Given the description of an element on the screen output the (x, y) to click on. 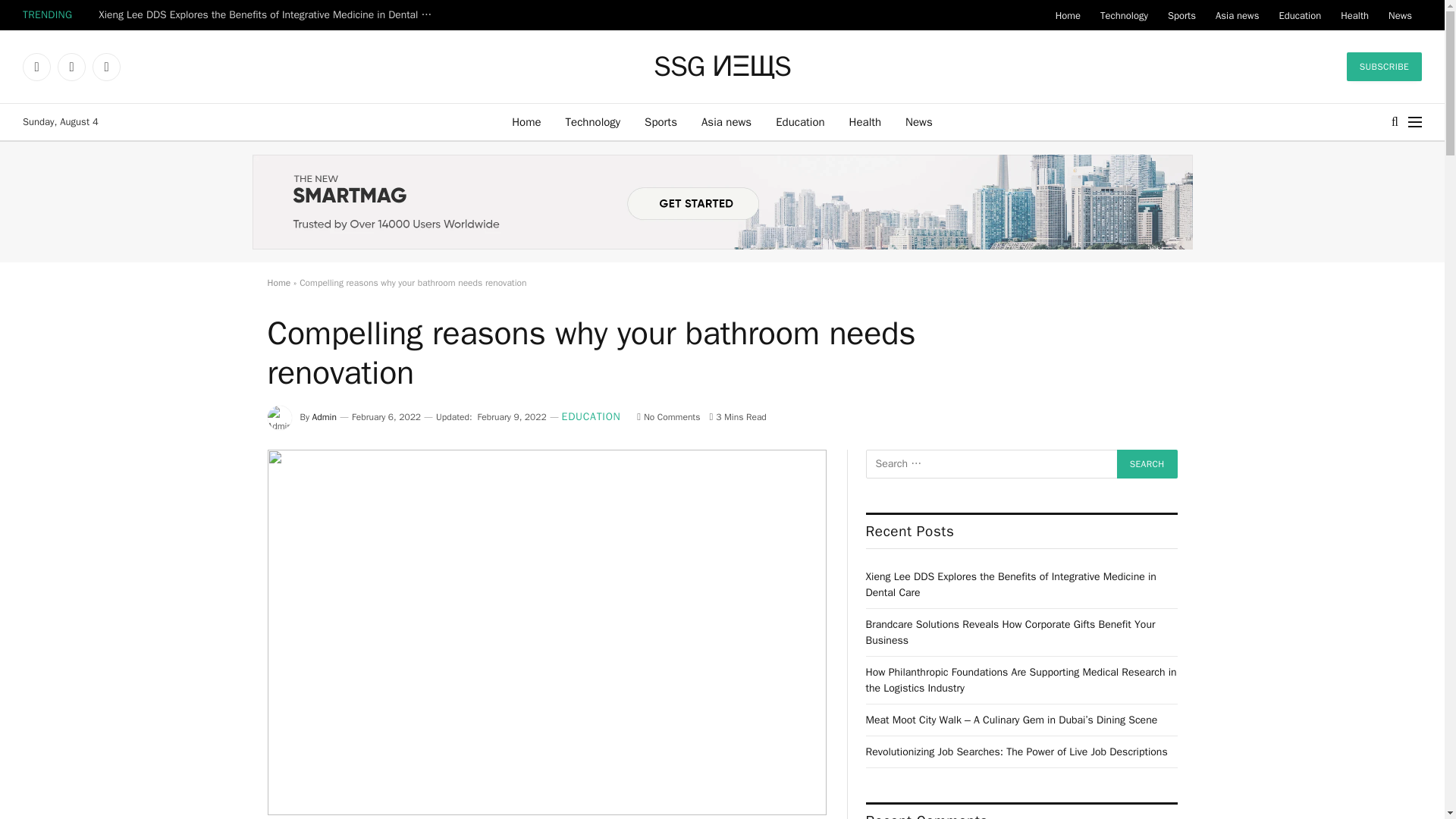
Health (1354, 15)
Sports (1181, 15)
Facebook (36, 67)
SUBSCRIBE (1384, 66)
Education (798, 122)
Home (526, 122)
Home (1067, 15)
Technology (1123, 15)
Instagram (106, 67)
Education (1299, 15)
Technology (593, 122)
Health (865, 122)
Search (1146, 463)
